Given the description of an element on the screen output the (x, y) to click on. 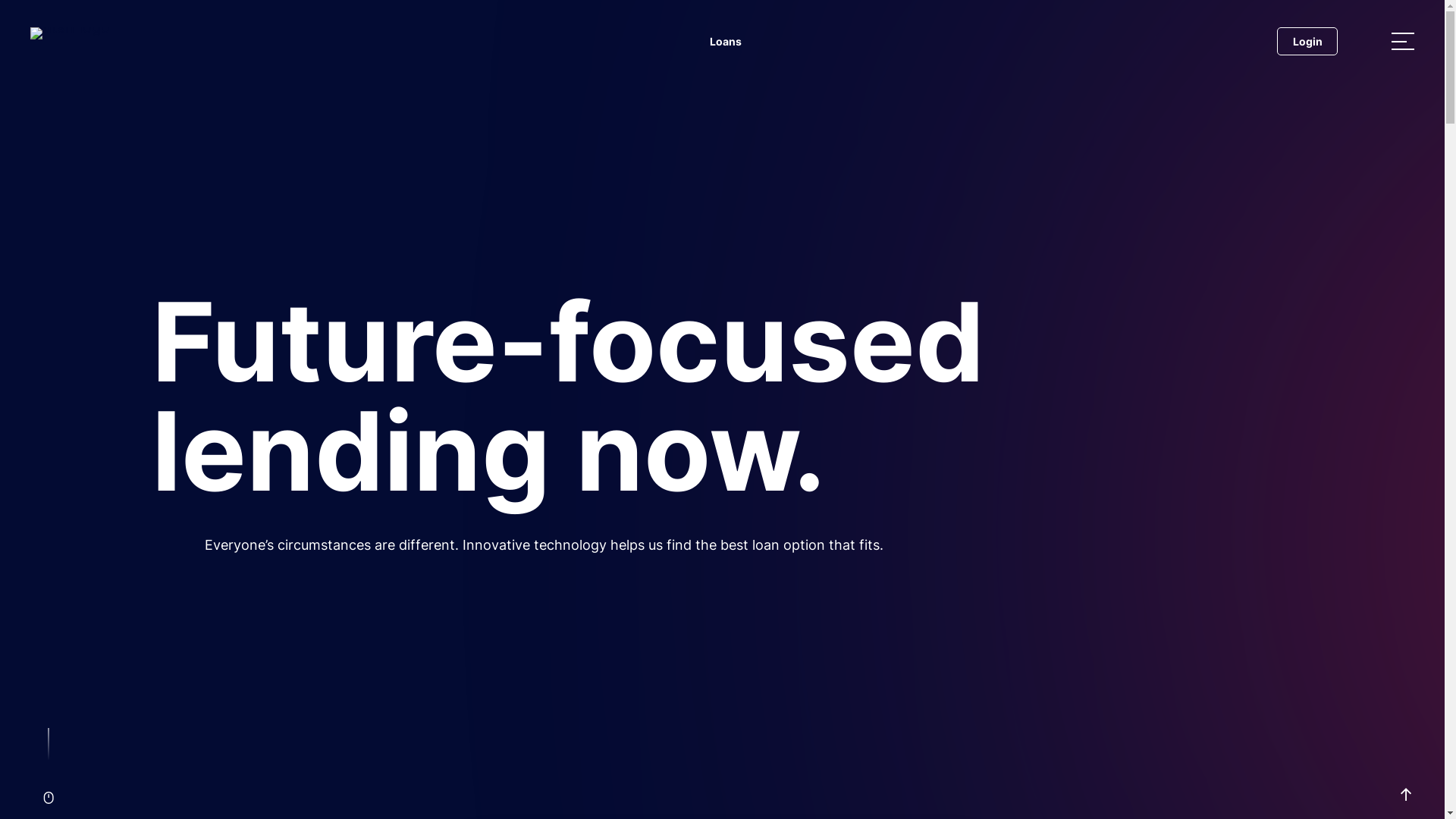
Login Element type: text (1307, 41)
